Given the description of an element on the screen output the (x, y) to click on. 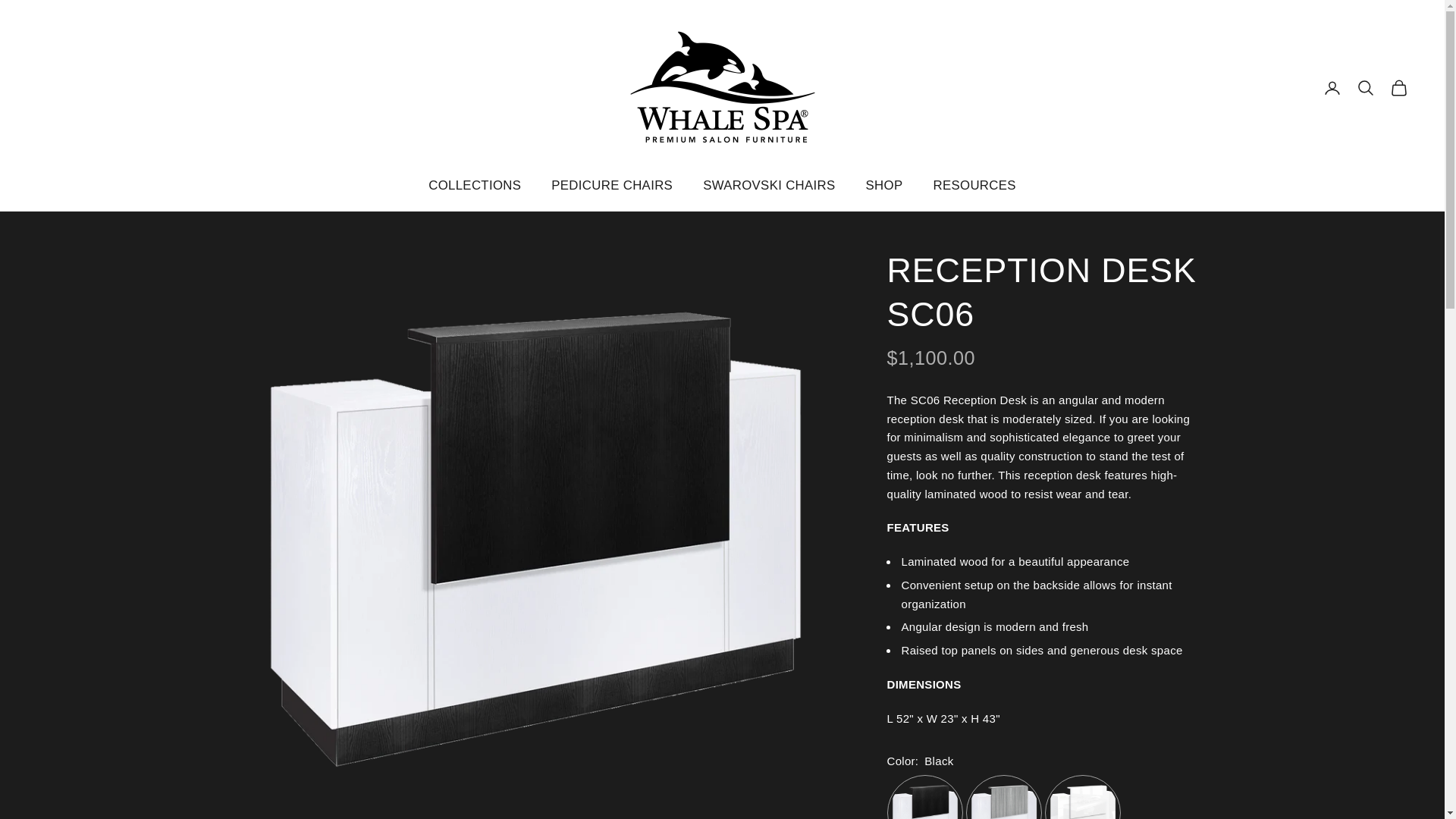
SWAROVSKI CHAIRS (768, 186)
